Given the description of an element on the screen output the (x, y) to click on. 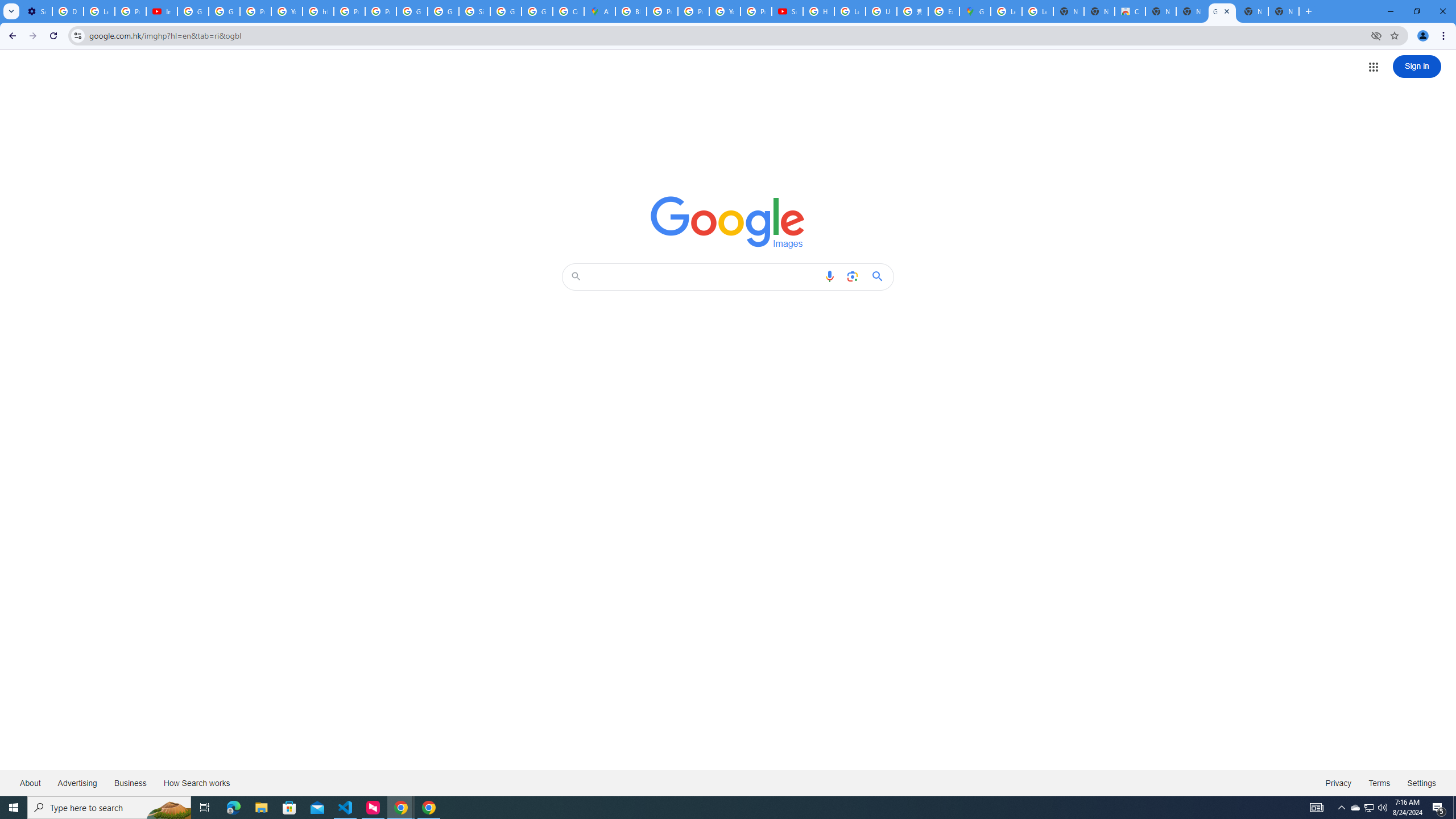
Sign in - Google Accounts (474, 11)
Explore new street-level details - Google Maps Help (943, 11)
